Given the description of an element on the screen output the (x, y) to click on. 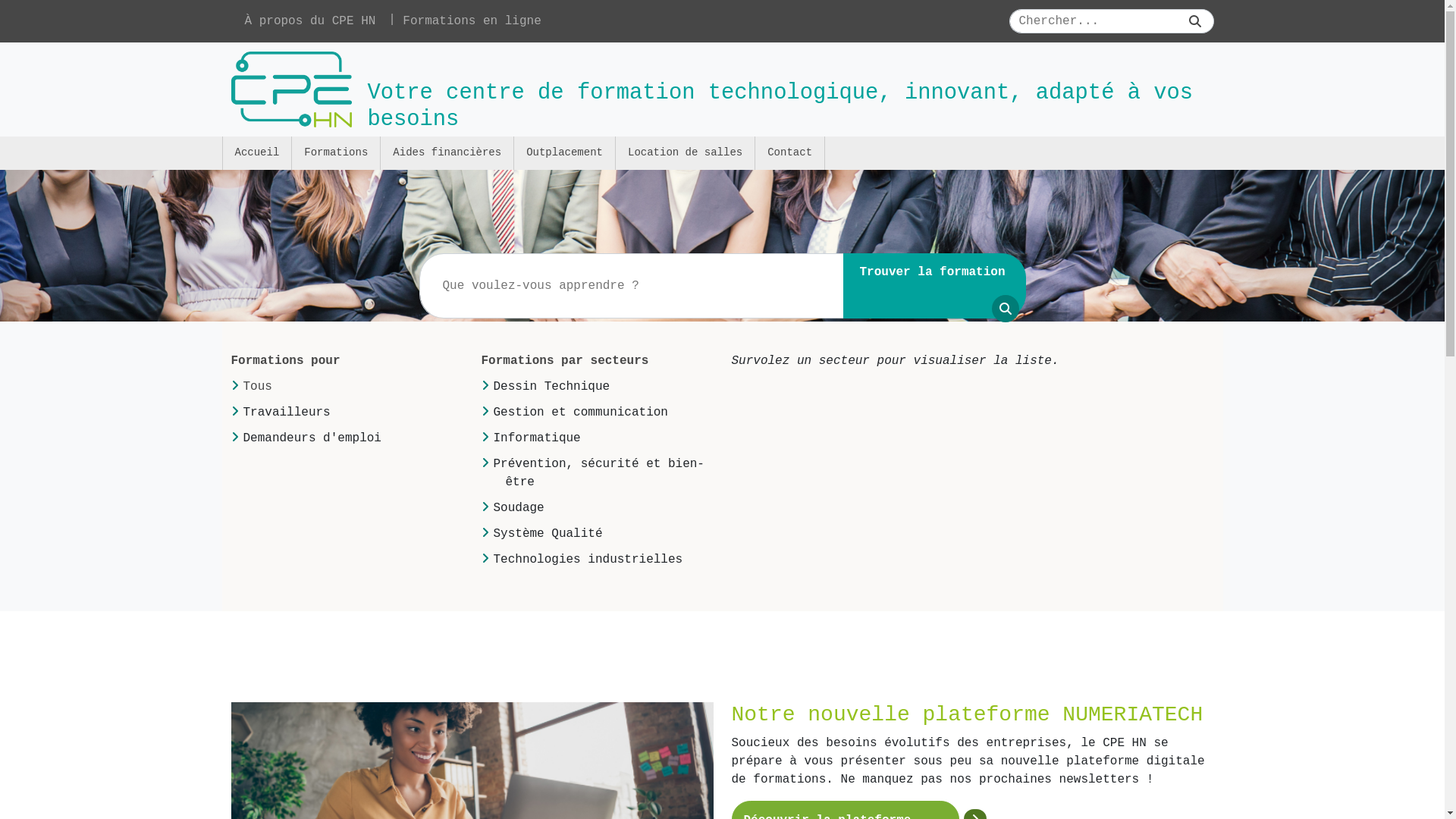
Tous Element type: text (256, 386)
Travailleurs Element type: text (285, 412)
Location de salles Element type: text (684, 152)
Formations en ligne Element type: text (471, 21)
Demandeurs d'emploi Element type: text (311, 438)
Contact Element type: text (789, 152)
Outplacement Element type: text (564, 152)
Trouver la formation Element type: text (934, 285)
Formations Element type: text (335, 152)
Accueil Element type: text (256, 152)
